Given the description of an element on the screen output the (x, y) to click on. 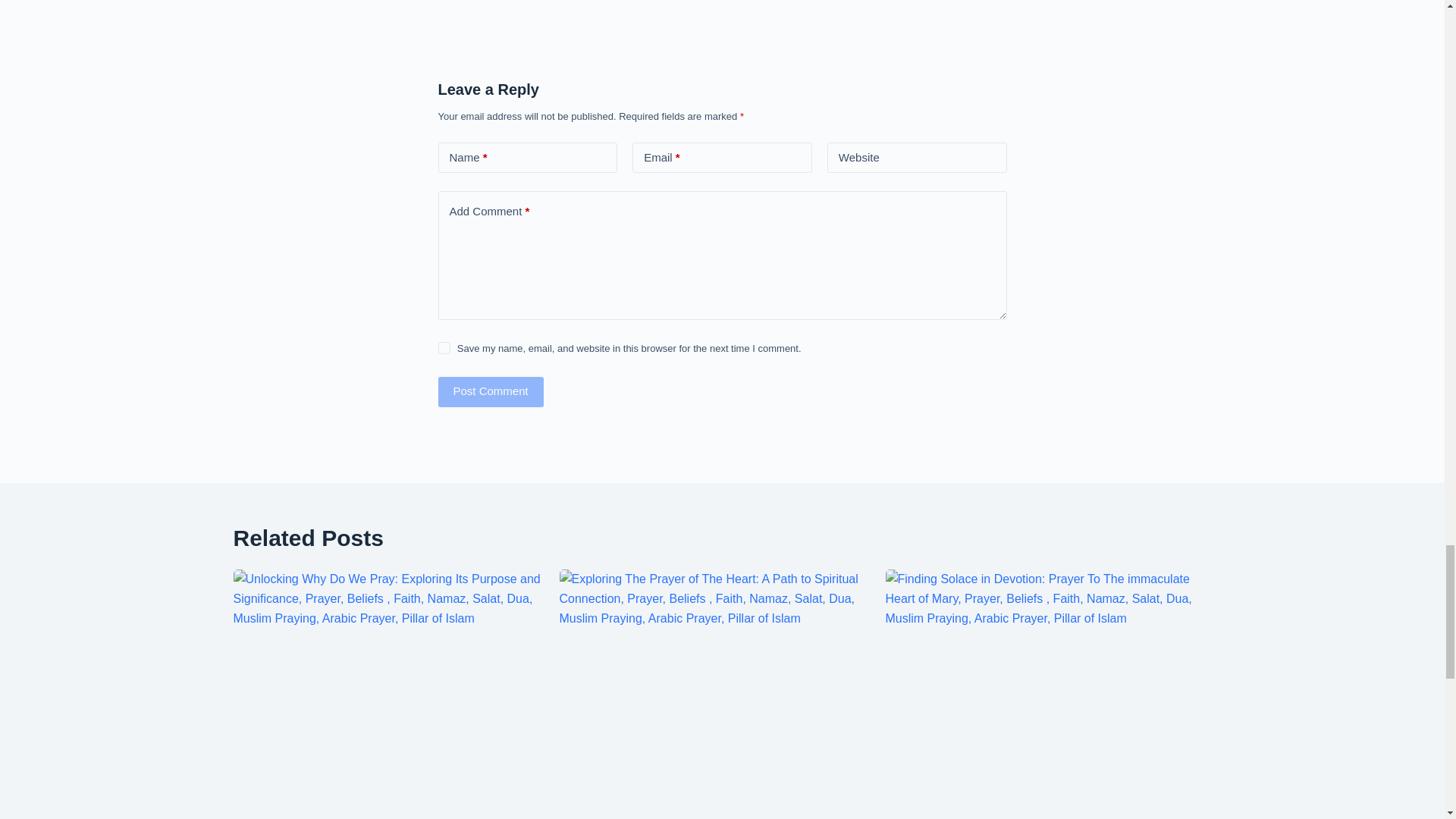
yes (443, 347)
